Given the description of an element on the screen output the (x, y) to click on. 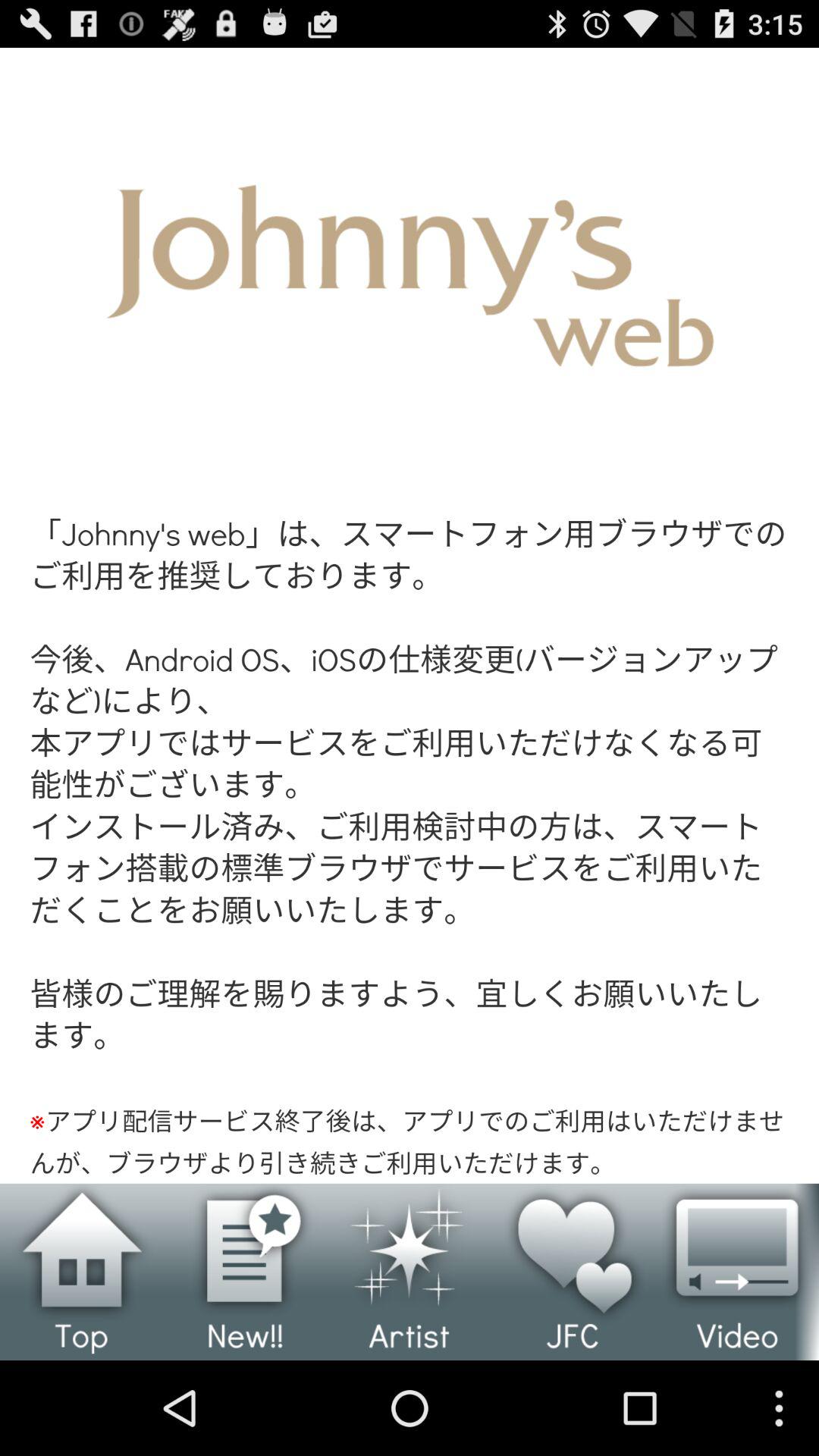
go to the main menu (81, 1271)
